Given the description of an element on the screen output the (x, y) to click on. 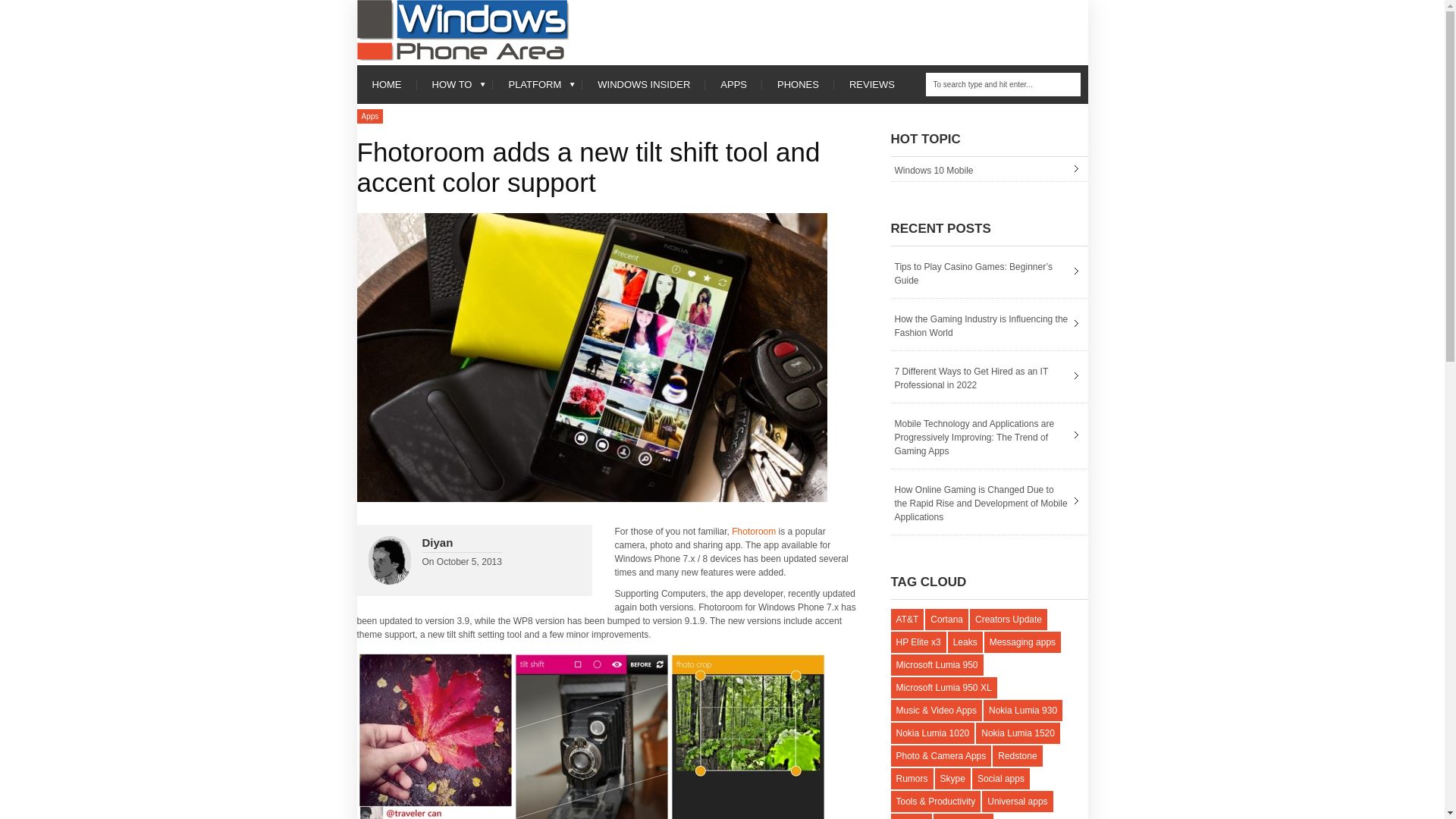
Posts by Diyan (437, 542)
REVIEWS (872, 84)
Diyan (437, 542)
Fhotoroom (754, 531)
HOME (386, 84)
Apps (369, 115)
WINDOWS INSIDER (643, 84)
APPS (732, 84)
PHONES (797, 84)
To search type and hit enter... (1002, 84)
